Given the description of an element on the screen output the (x, y) to click on. 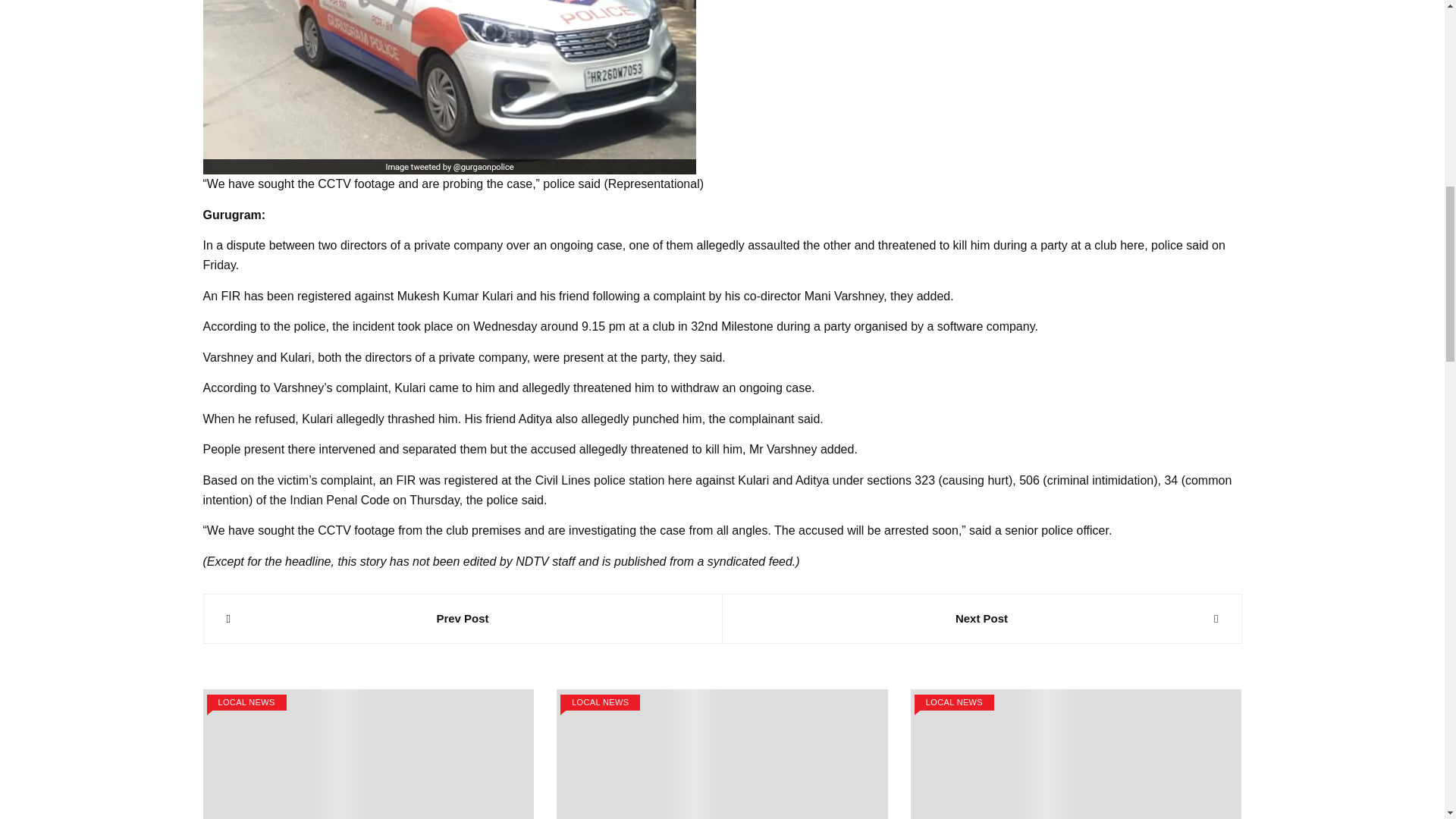
LOCAL NEWS (245, 702)
LOCAL NEWS (954, 702)
LOCAL NEWS (600, 702)
Next Post (980, 618)
Prev Post (461, 618)
